Given the description of an element on the screen output the (x, y) to click on. 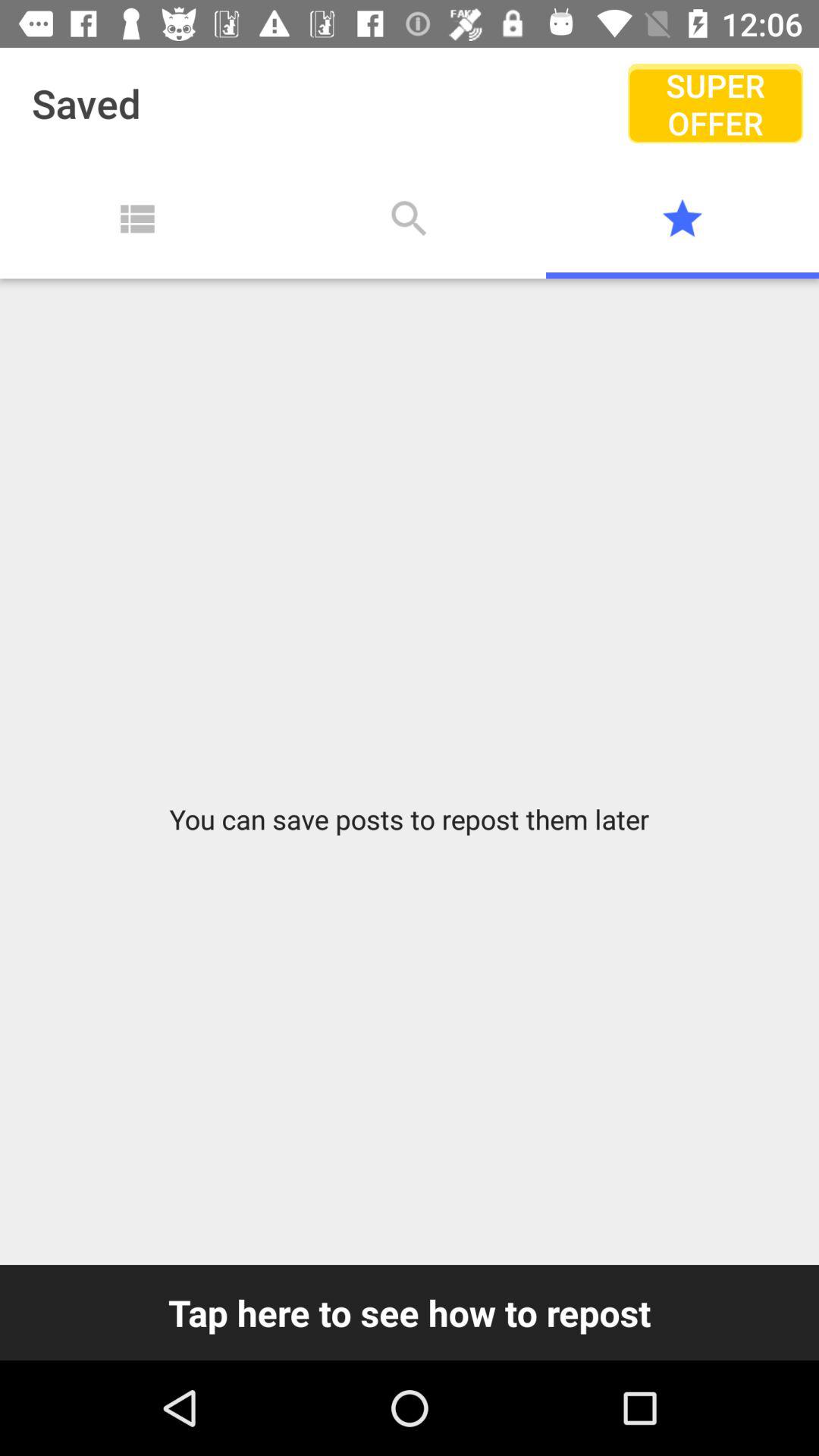
scroll until super
offer item (715, 103)
